Given the description of an element on the screen output the (x, y) to click on. 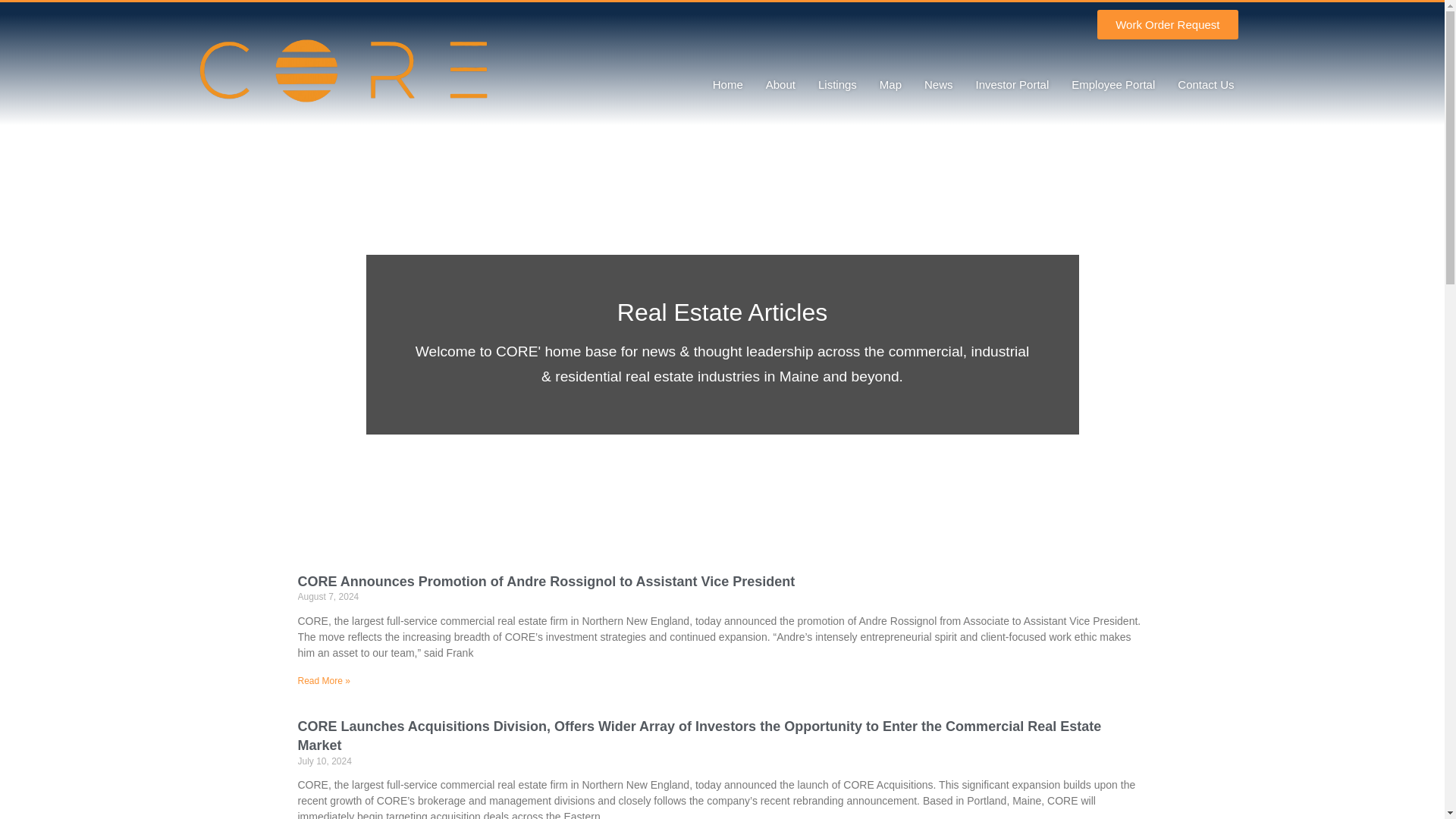
News (937, 84)
About (780, 84)
Employee Portal (1112, 84)
Map (889, 84)
Investor Portal (1012, 84)
Work Order Request (1167, 24)
Listings (836, 84)
Contact Us (1205, 84)
Home (727, 84)
